Given the description of an element on the screen output the (x, y) to click on. 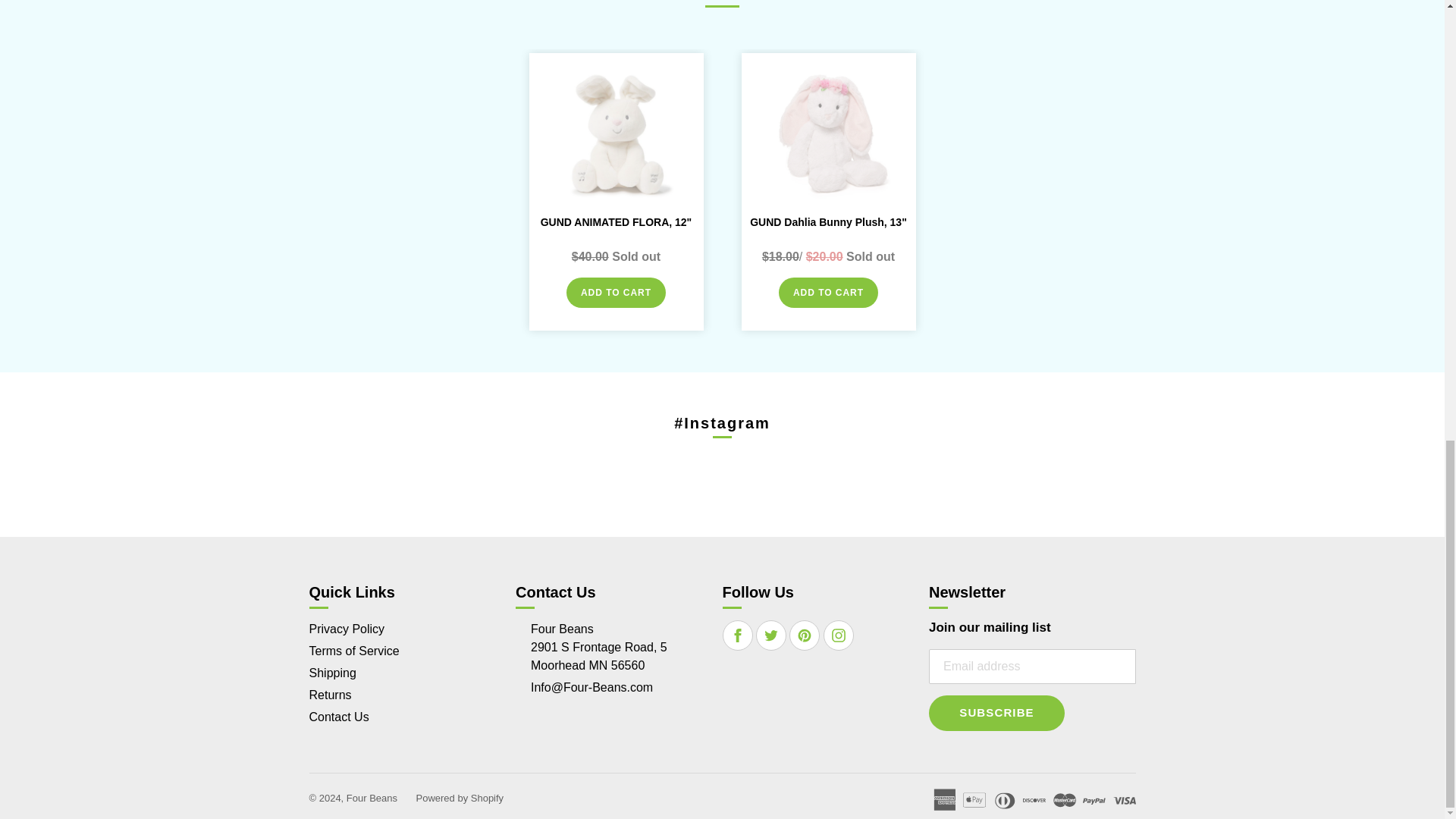
Four Beans on Instagram (838, 635)
Four Beans on Facebook (737, 635)
Four Beans on Twitter (771, 635)
Four Beans on Pinterest (804, 635)
